Given the description of an element on the screen output the (x, y) to click on. 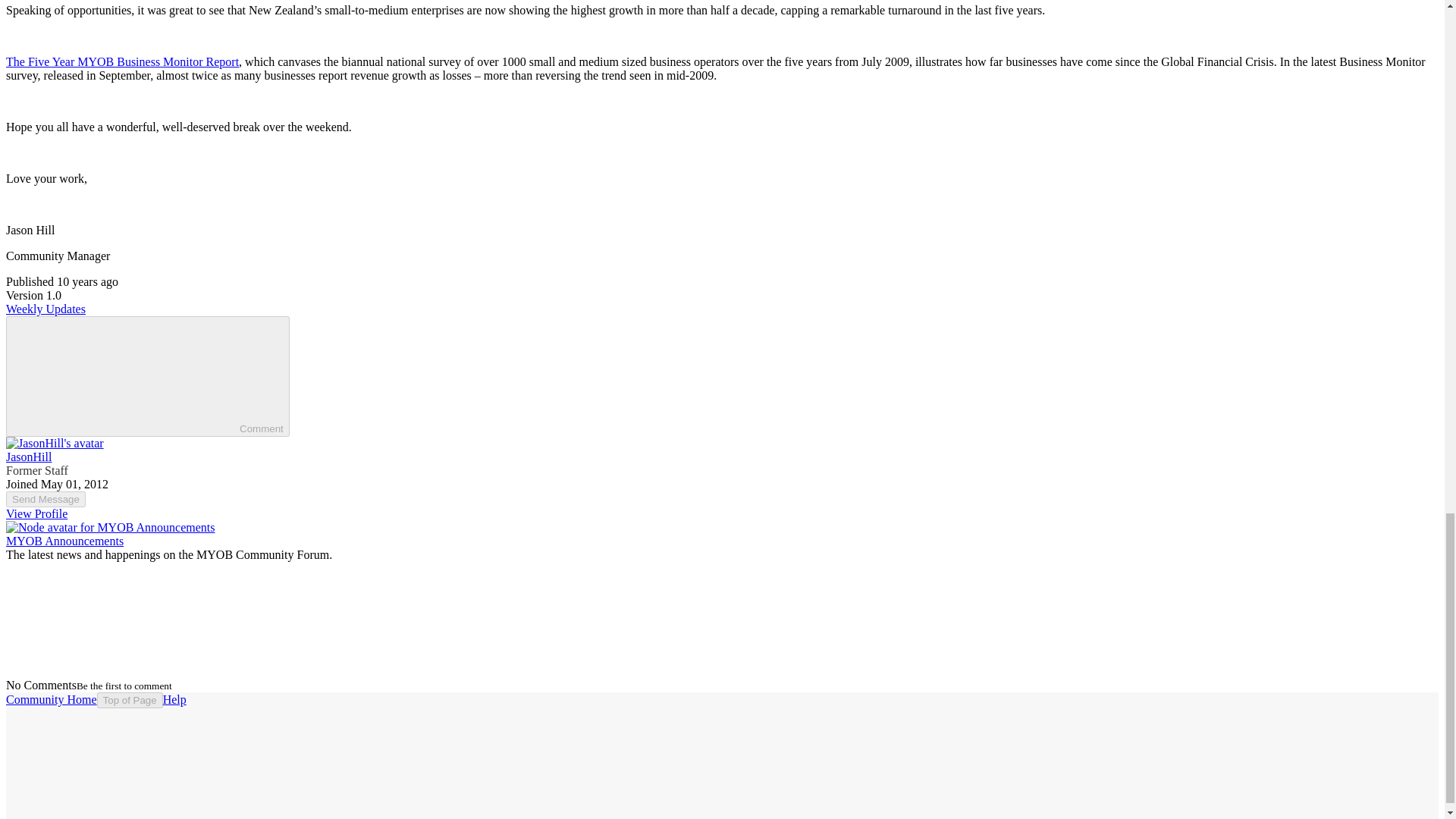
Help (174, 698)
November 14, 2014 at 2:50 AM (86, 281)
View Profile (35, 513)
The Five Year MYOB Business Monitor Report (121, 61)
JasonHill (27, 456)
Top of Page (130, 700)
Weekly Updates (45, 308)
Send Message (45, 498)
Send Message (45, 498)
MYOB Announcements (64, 540)
CommentComment (147, 376)
Comment (125, 375)
Community Home (51, 698)
